Given the description of an element on the screen output the (x, y) to click on. 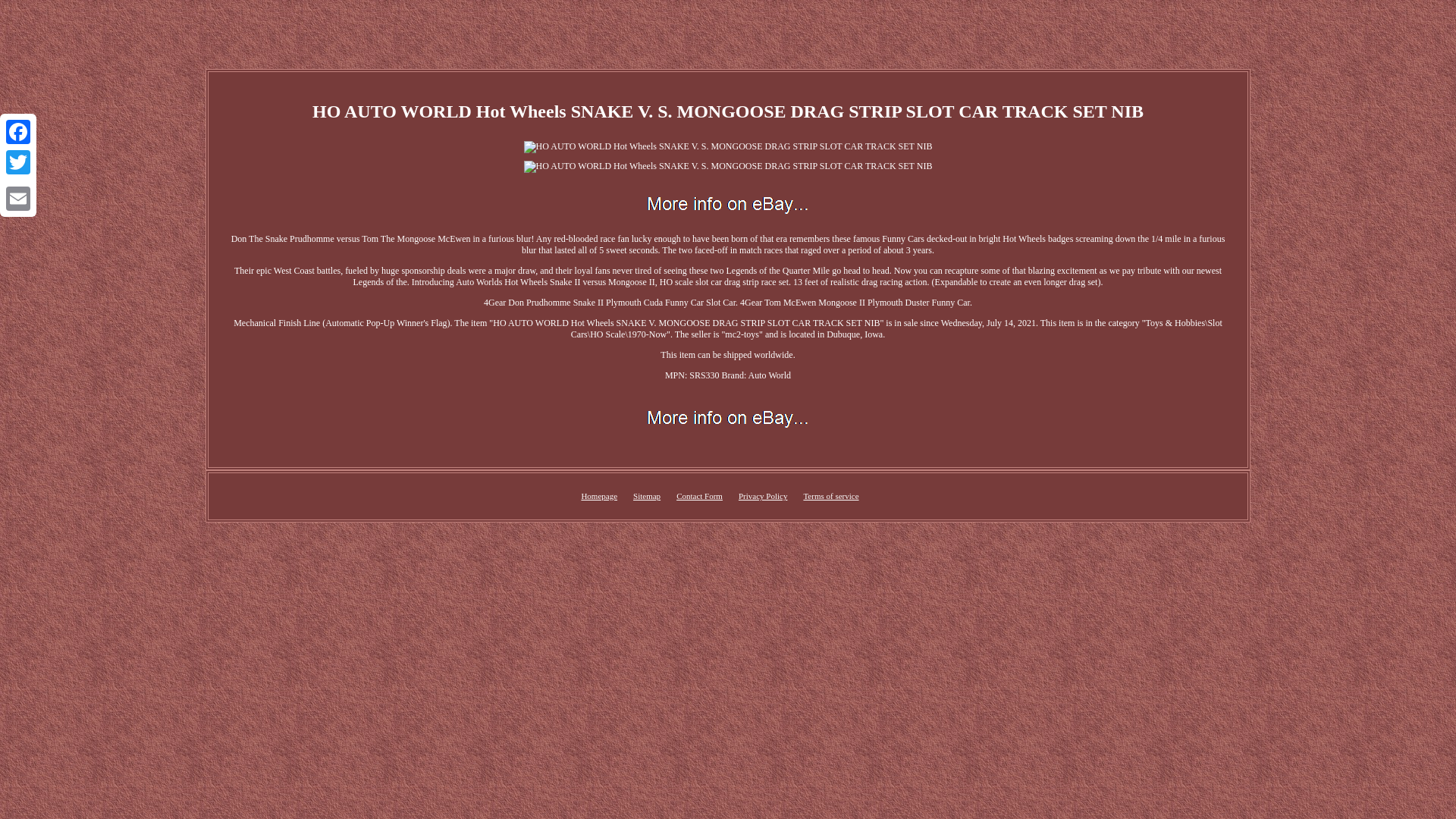
Facebook (17, 132)
Twitter (17, 162)
Email (17, 198)
